Given the description of an element on the screen output the (x, y) to click on. 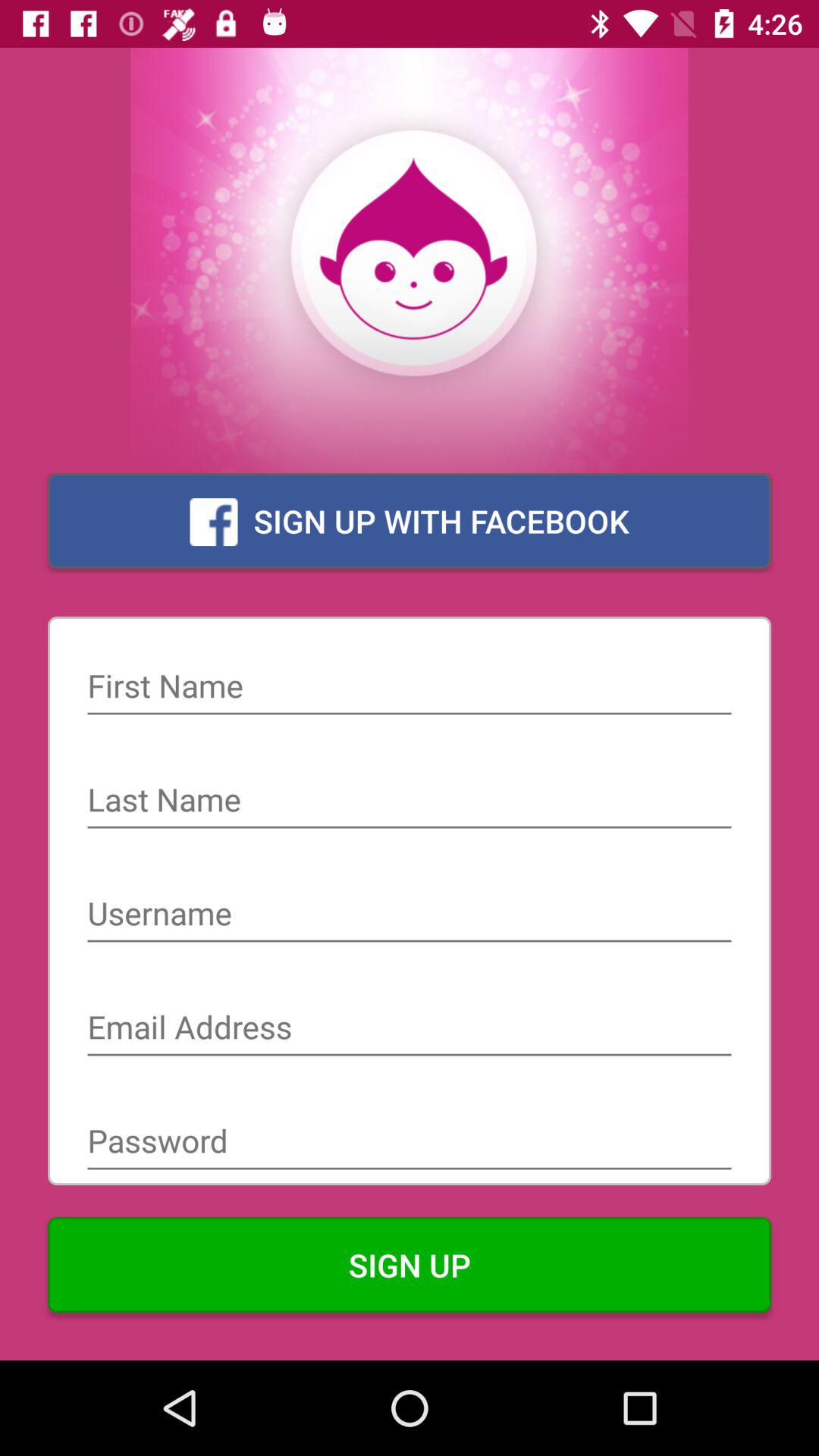
toggle email adress (409, 1028)
